Given the description of an element on the screen output the (x, y) to click on. 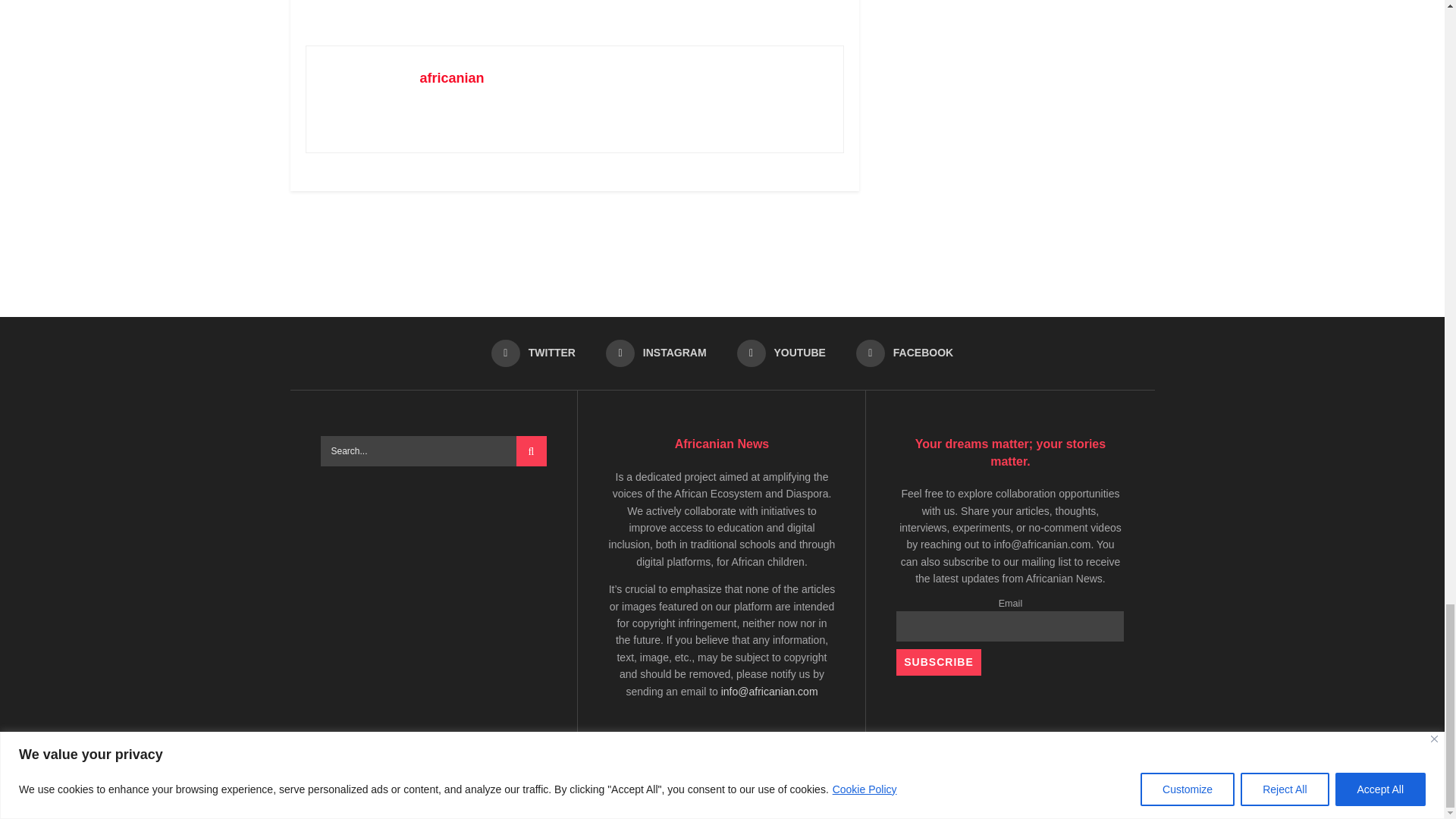
Advertisement (580, 9)
Advertisement (722, 247)
Subscribe (937, 662)
